Given the description of an element on the screen output the (x, y) to click on. 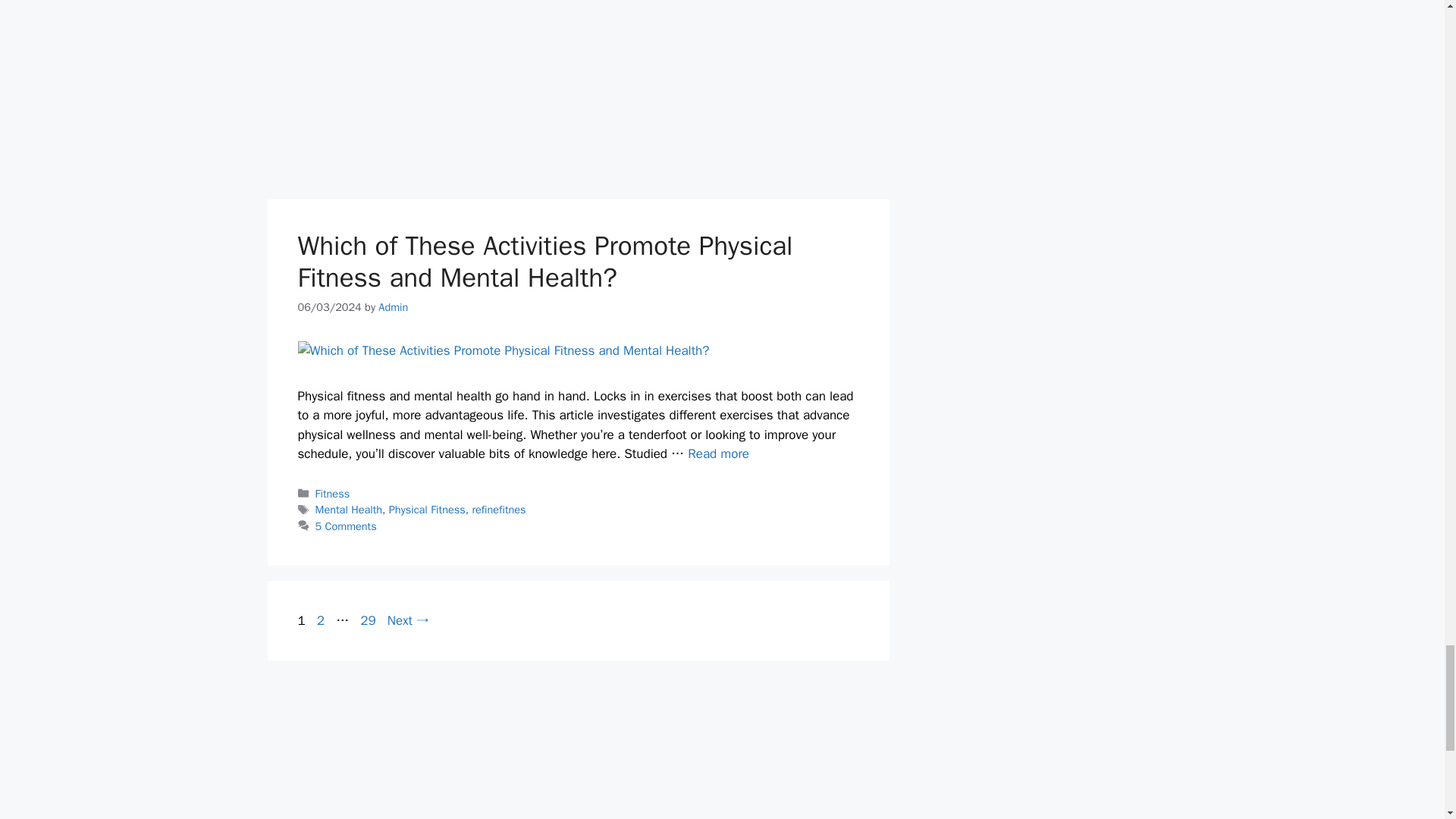
View all posts by Admin (392, 306)
